Given the description of an element on the screen output the (x, y) to click on. 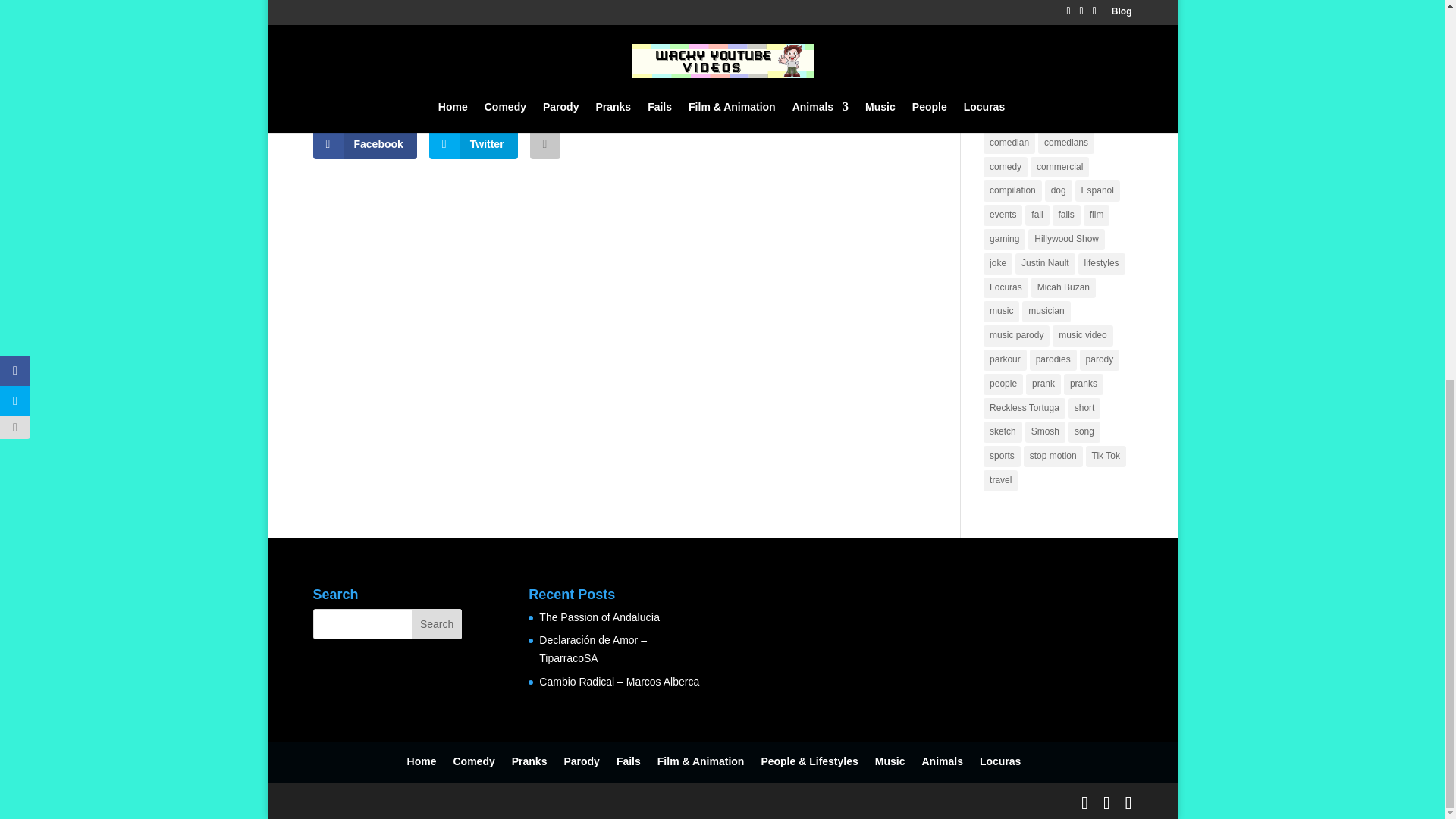
Twitter (473, 143)
Crazy Baby Arm Prank (617, 51)
Search (436, 624)
Haunted Shopping Cart Prank (374, 51)
Facebook (364, 143)
Best Of Just For Laughs Gags - Kids (496, 51)
